Given the description of an element on the screen output the (x, y) to click on. 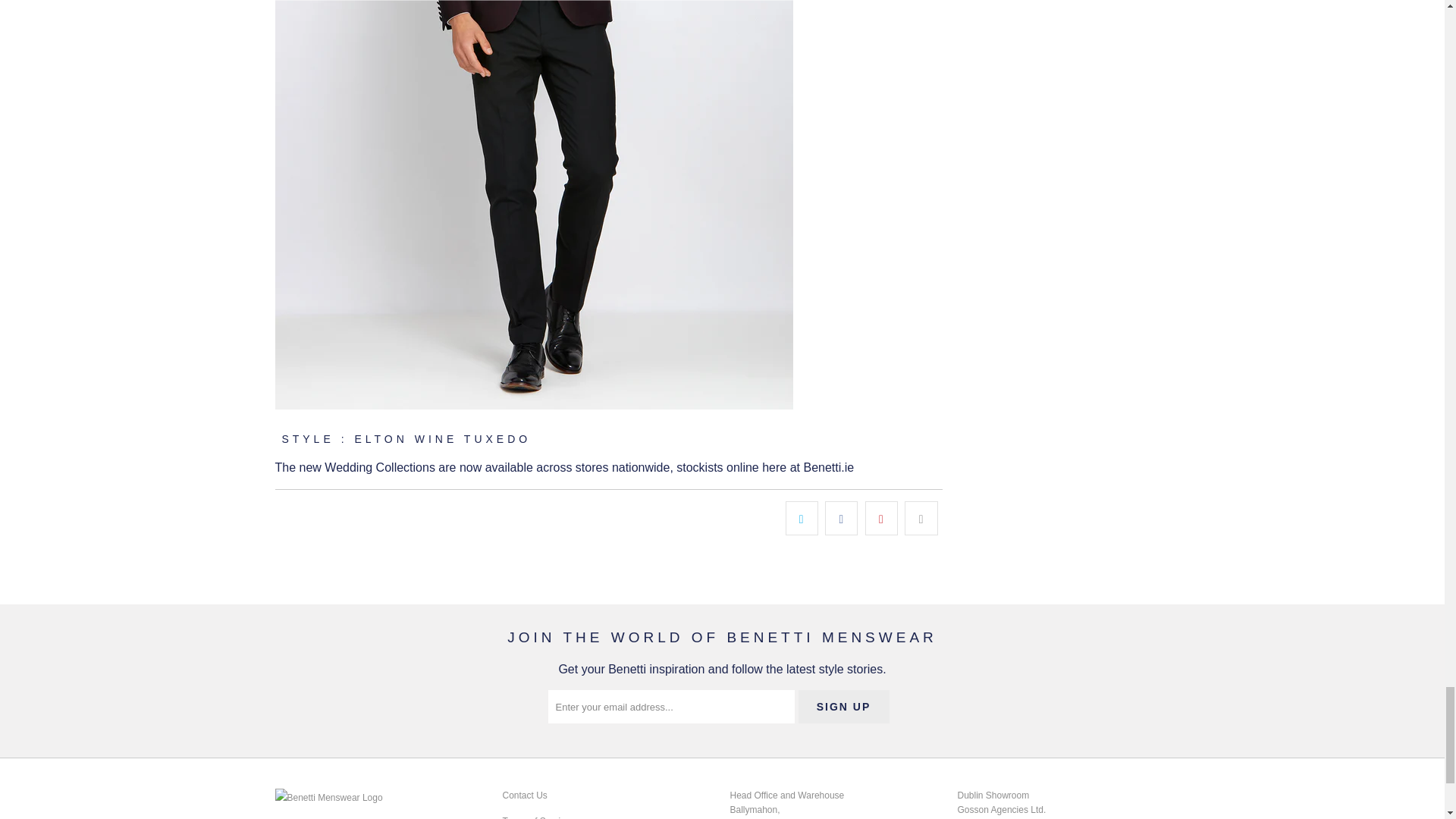
Sign Up (842, 706)
Email this to a friend (920, 518)
Share this on Pinterest (881, 518)
Share this on Facebook (841, 518)
Share this on Twitter (802, 518)
